Given the description of an element on the screen output the (x, y) to click on. 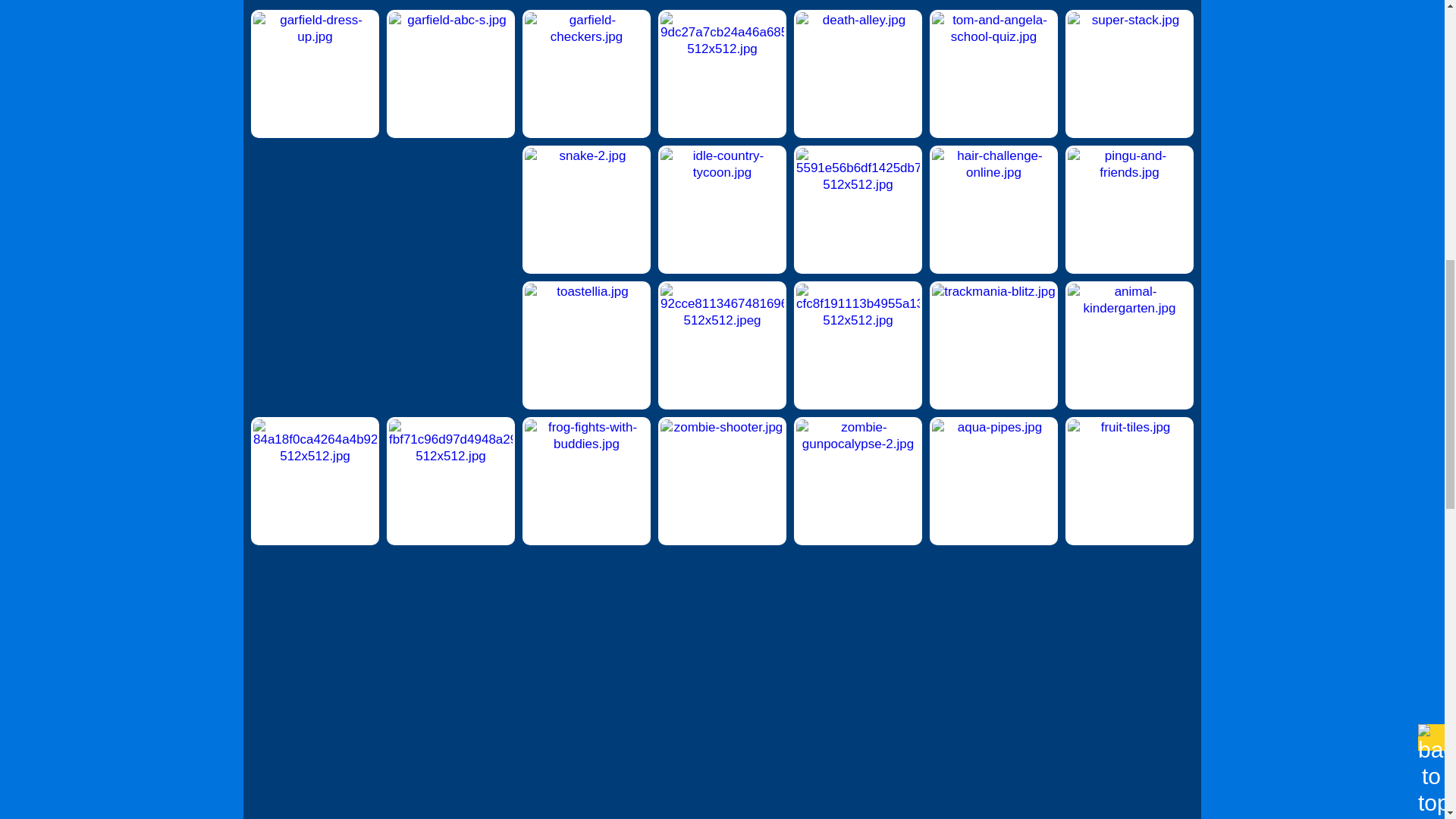
Death Alley (857, 73)
Life Clicker (722, 73)
Garfield Dress Up (314, 73)
Garfield Checkers (586, 73)
